Given the description of an element on the screen output the (x, y) to click on. 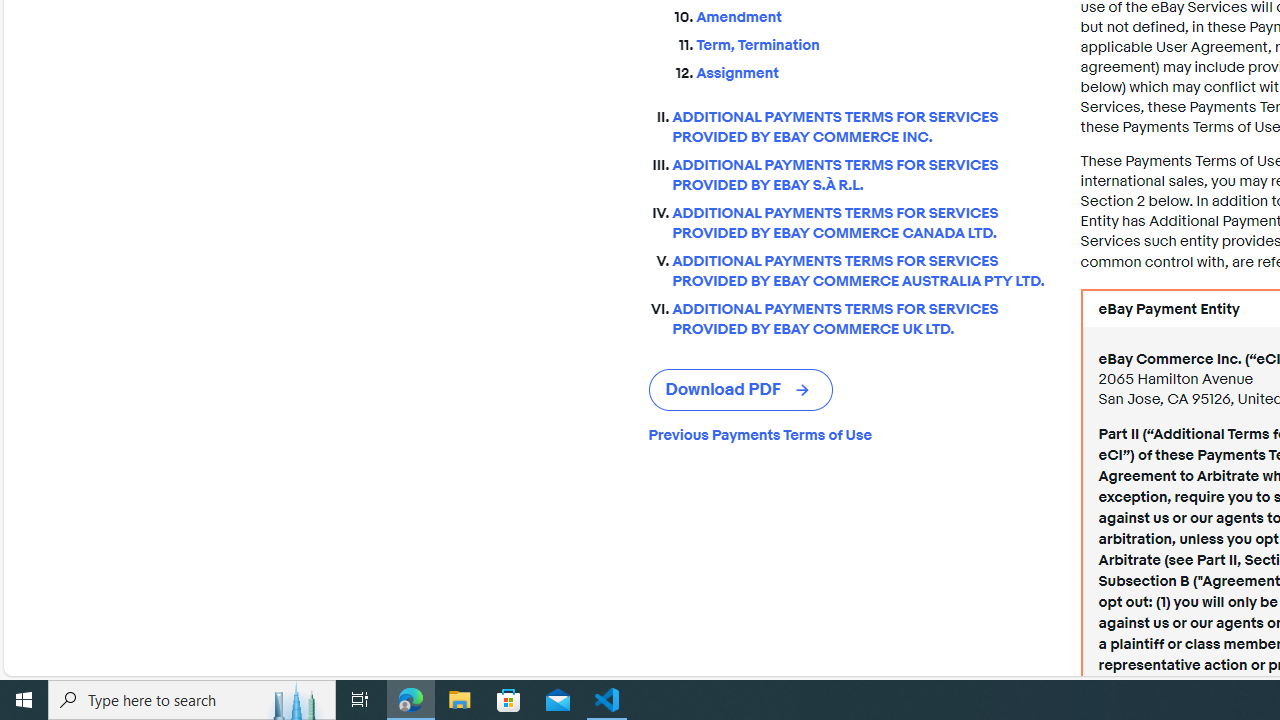
Term, Termination (872, 45)
Previous Payments Terms of Use (848, 434)
Assignment (872, 73)
